Given the description of an element on the screen output the (x, y) to click on. 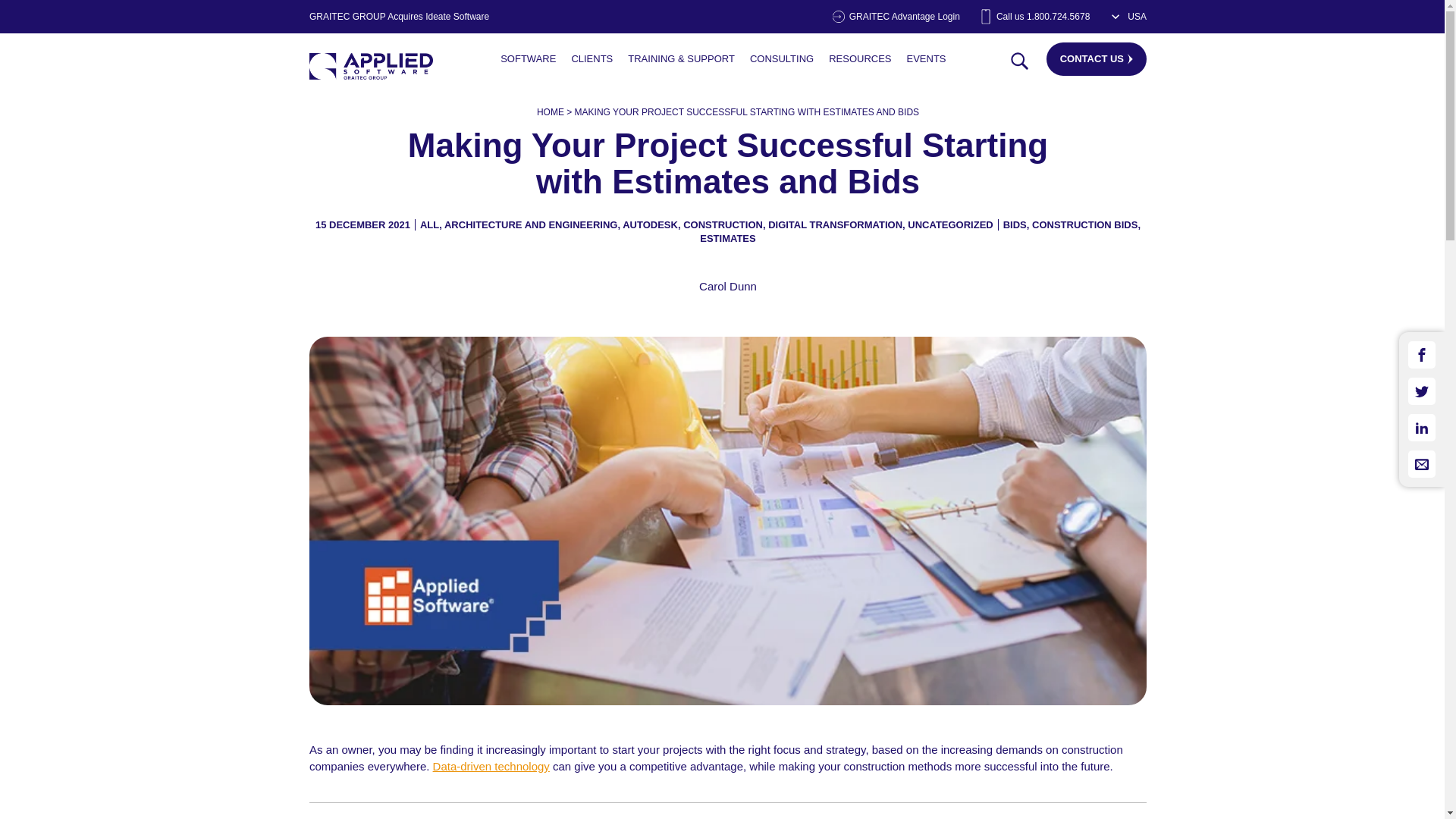
GRAITEC GROUP Acquires Ideate Software (398, 16)
Link post Object (528, 58)
SOFTWARE (528, 58)
Page d'accueil (370, 66)
